Given the description of an element on the screen output the (x, y) to click on. 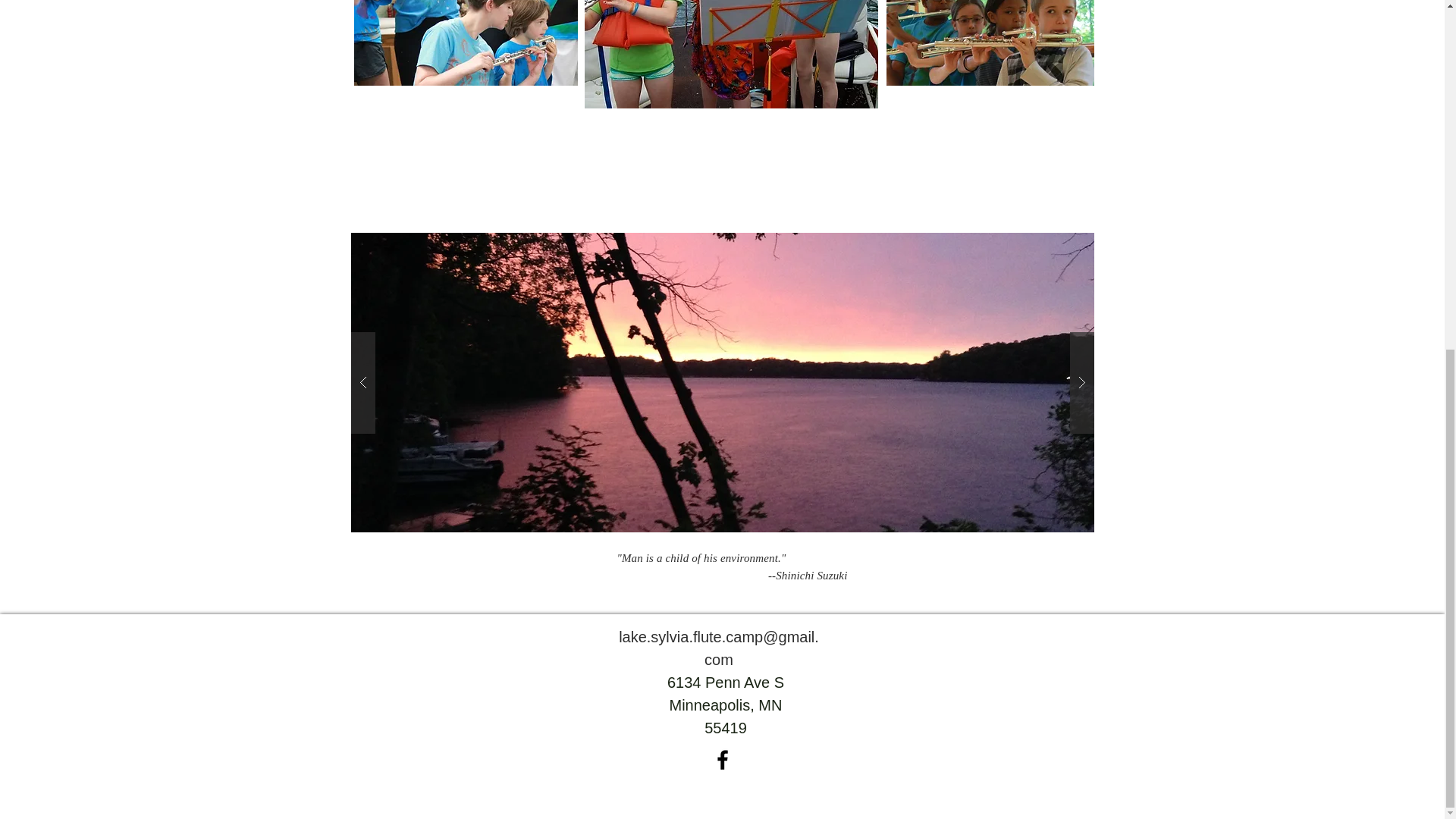
boatflute.jpg (730, 54)
